Given the description of an element on the screen output the (x, y) to click on. 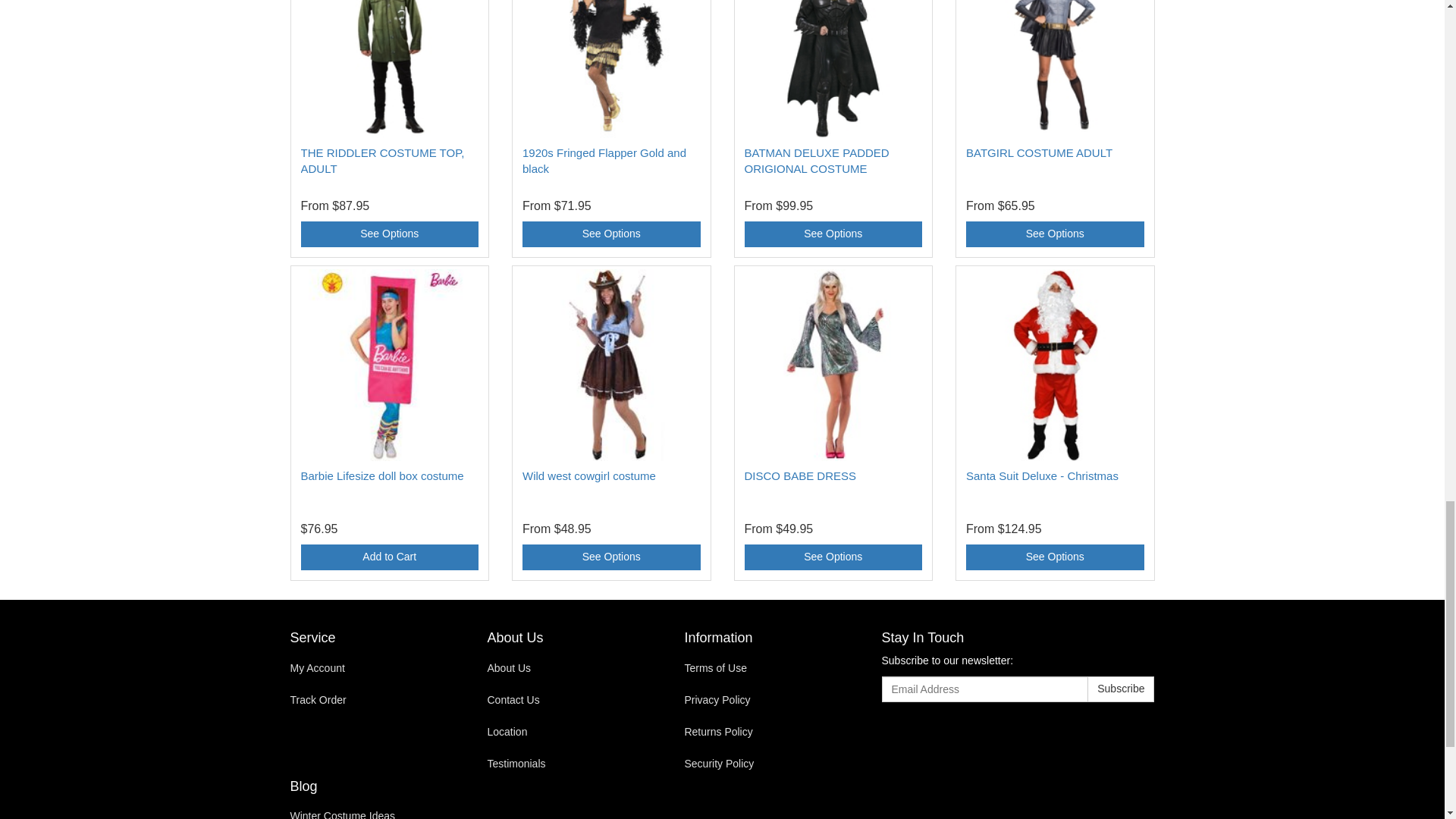
BATGIRL COSTUME ADULT (1039, 152)
Buying Options (833, 234)
Buying Options (1055, 234)
1920s Fringed Flapper Gold and black (603, 160)
BATMAN DELUXE PADDED ORIGIONAL COSTUME (816, 160)
Subscribe (1120, 688)
THE RIDDLER COSTUME TOP, ADULT (381, 160)
Buying Options (389, 234)
Buying Options (611, 234)
